Given the description of an element on the screen output the (x, y) to click on. 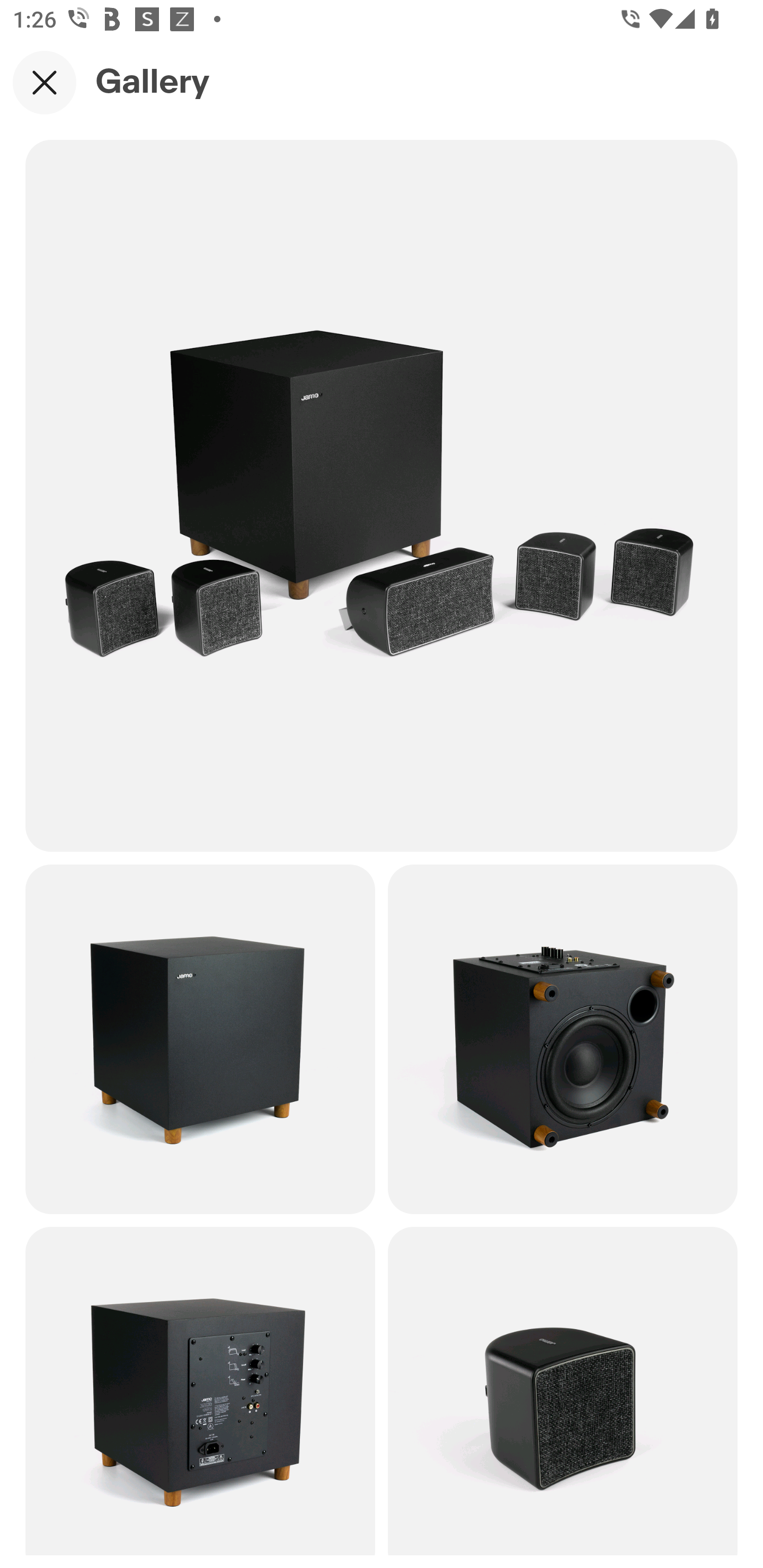
Close (44, 82)
Item image 1 of 13 (381, 495)
Item image 2 of 13 (200, 1038)
Item image 3 of 13 (562, 1038)
Item image 4 of 13 (200, 1390)
Item image 5 of 13 (562, 1390)
